Given the description of an element on the screen output the (x, y) to click on. 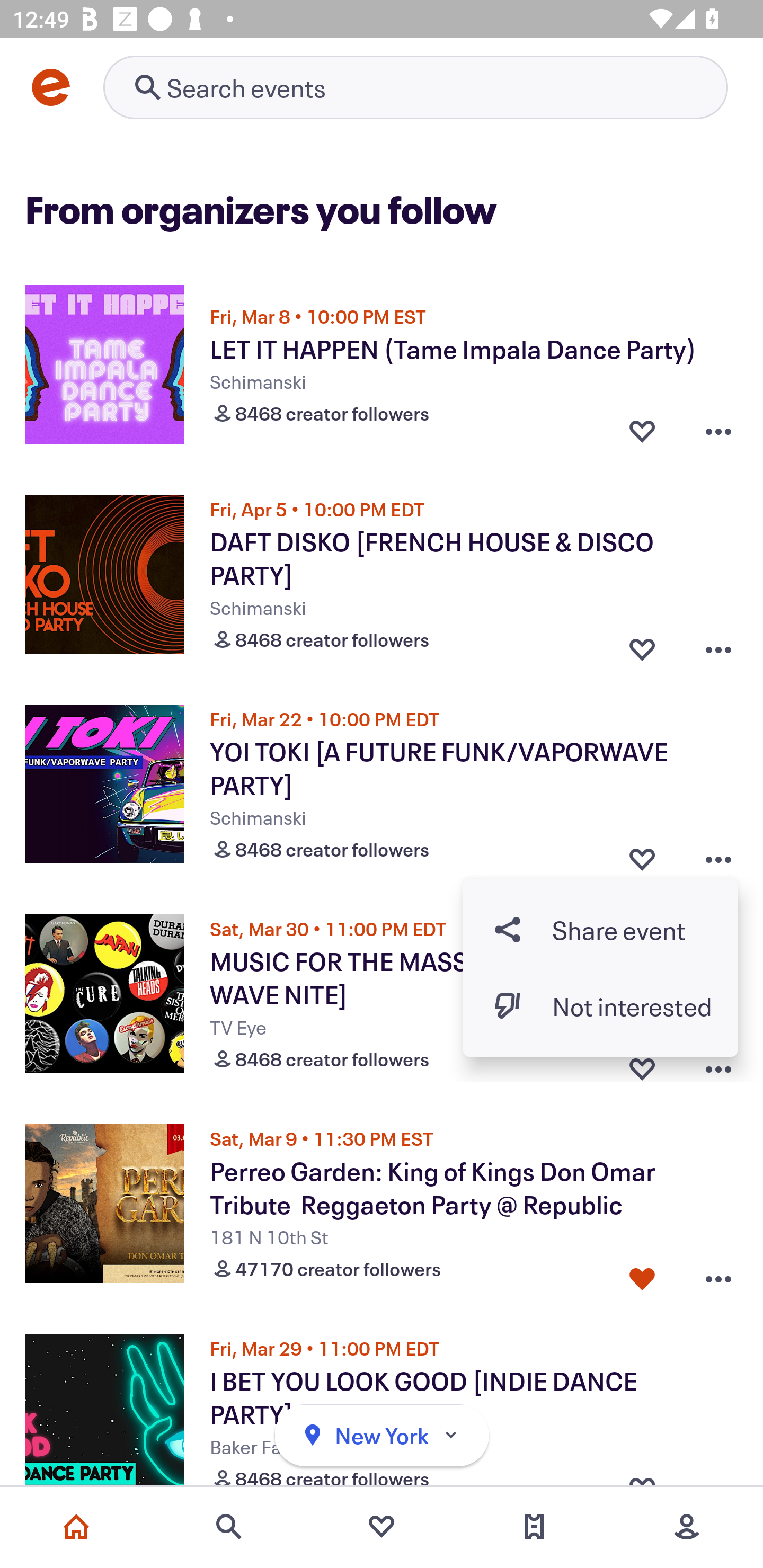
Share button Share event (600, 929)
Dislike event button Not interested (600, 1005)
